Given the description of an element on the screen output the (x, y) to click on. 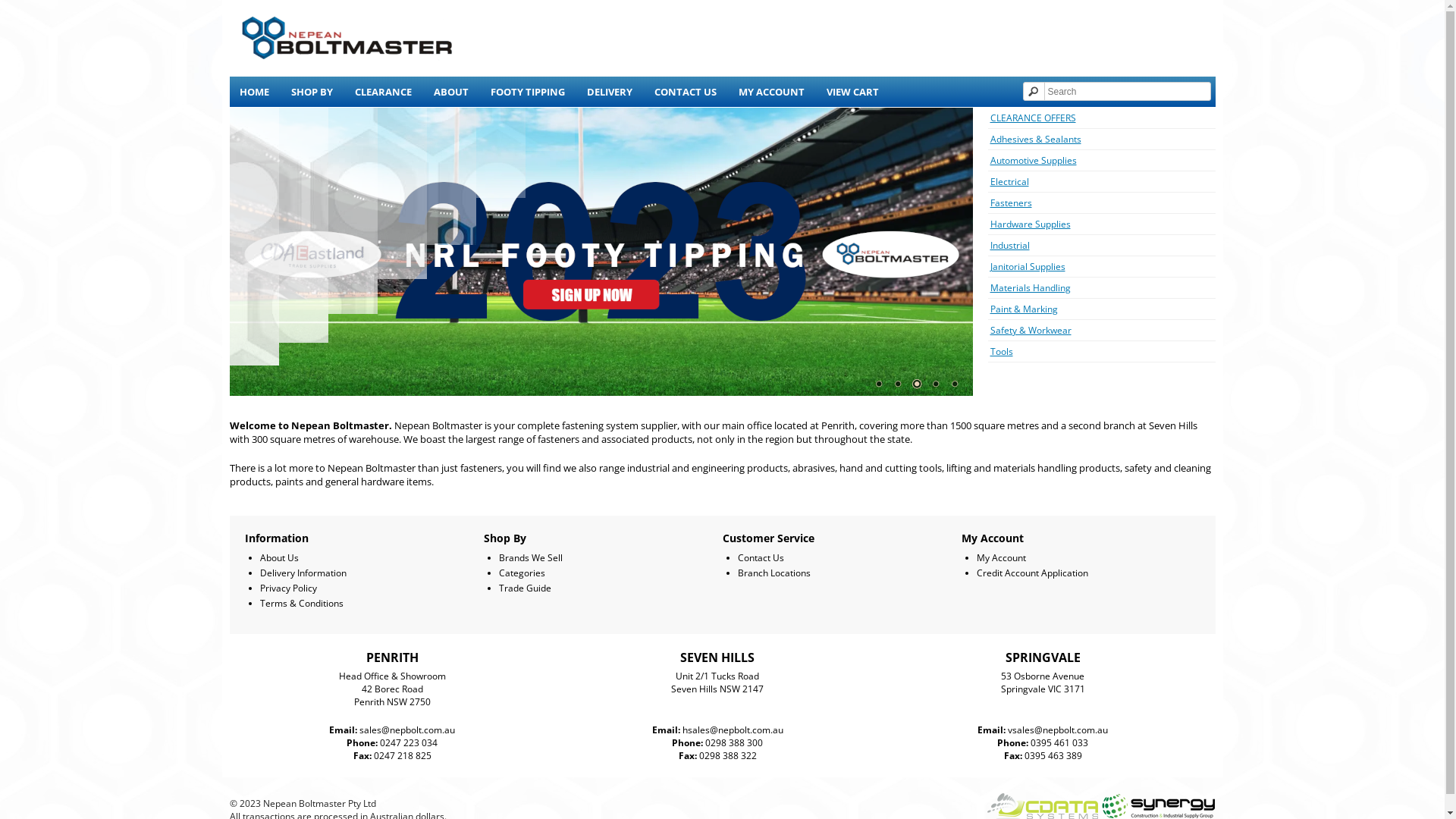
Materials Handling Element type: text (1030, 287)
Paint & Marking Element type: text (1023, 308)
5 Element type: text (954, 383)
Adhesives & Sealants Element type: text (1035, 138)
Contact Us Element type: text (760, 557)
2 Element type: text (896, 383)
4 Element type: text (934, 383)
Delivery Information Element type: text (302, 572)
Fasteners Element type: text (1011, 202)
Privacy Policy Element type: text (287, 587)
Terms & Conditions Element type: text (300, 602)
1 Element type: text (878, 383)
Nepean Boltmaster Element type: hover (347, 37)
About Us Element type: text (278, 557)
DELIVERY Element type: text (608, 91)
FOOTY TIPPING Element type: text (527, 91)
3 Element type: text (916, 383)
Tools Element type: text (1001, 351)
VIEW CART Element type: text (851, 91)
Hardware Supplies Element type: text (1030, 223)
CONTACT US Element type: text (685, 91)
Safety & Workwear Element type: text (1030, 329)
ABOUT Element type: text (450, 91)
Automotive Supplies Element type: text (1033, 159)
Brands We Sell Element type: text (530, 557)
Trade Guide Element type: text (524, 587)
Credit Account Application Element type: text (1032, 572)
HOME Element type: text (253, 91)
MY ACCOUNT Element type: text (770, 91)
CLEARANCE OFFERS Element type: text (1033, 117)
Electrical Element type: text (1009, 181)
Janitorial Supplies Element type: text (1027, 266)
SHOP BY Element type: text (311, 91)
Branch Locations Element type: text (773, 572)
CLEARANCE Element type: text (382, 91)
Industrial Element type: text (1009, 244)
My Account Element type: text (1001, 557)
Categories Element type: text (521, 572)
